Given the description of an element on the screen output the (x, y) to click on. 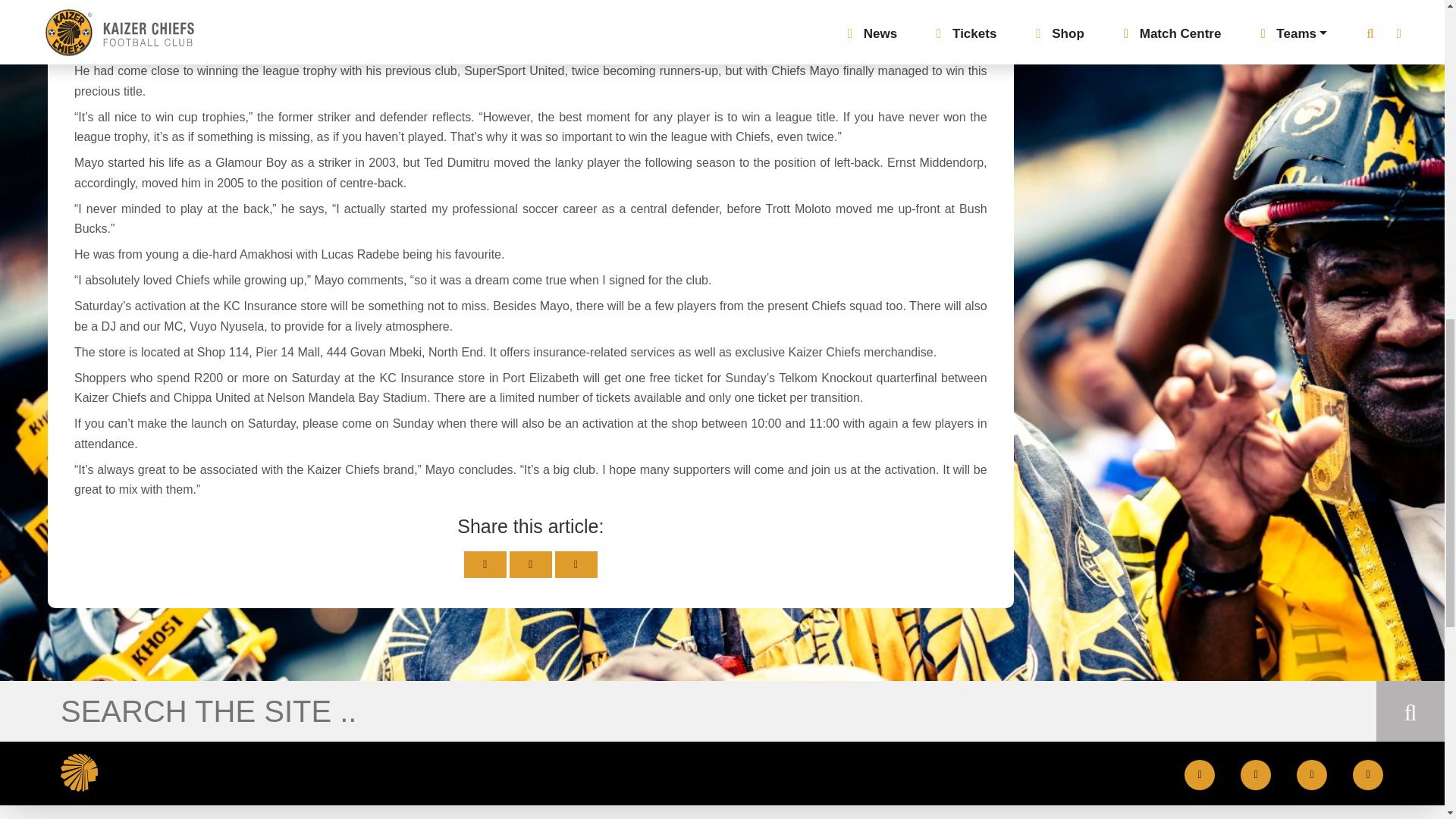
Share on Facebook (530, 564)
Share on Twitter (485, 564)
Share on LinkedIn (575, 564)
